Given the description of an element on the screen output the (x, y) to click on. 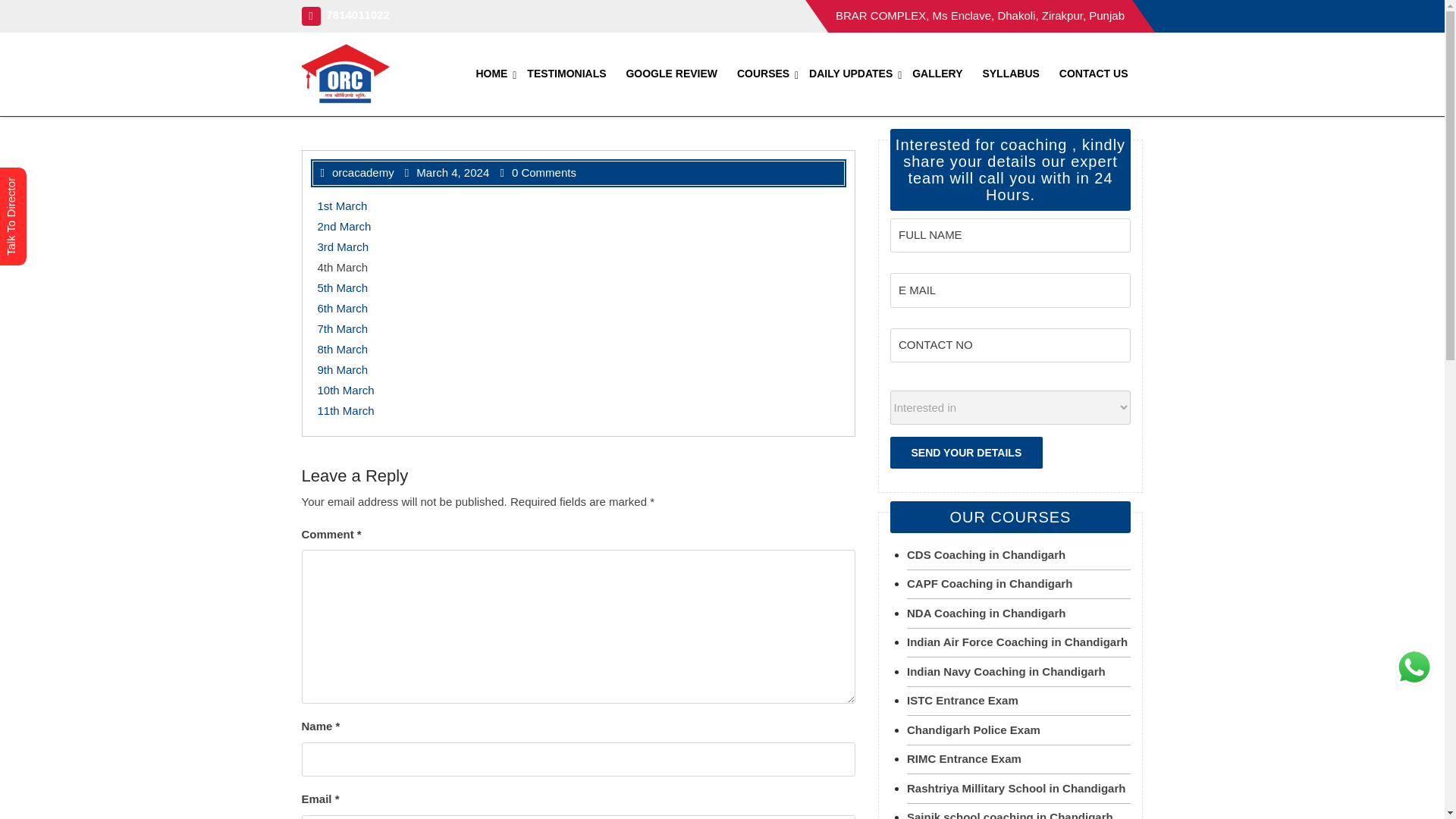
SYLLABUS (1016, 73)
BRAR COMPLEX, Ms Enclave, Dhakoli, Zirakpur, Punjab (979, 15)
DAILY UPDATES (857, 73)
COURSES (770, 73)
CONTACT US (1100, 73)
9th March (342, 369)
8th March (342, 349)
HOME (498, 73)
TESTIMONIALS (573, 73)
7814011022 (345, 14)
3rd March (342, 246)
5th March (342, 287)
GOOGLE REVIEW (678, 73)
GALLERY (943, 73)
2nd March (344, 226)
